Given the description of an element on the screen output the (x, y) to click on. 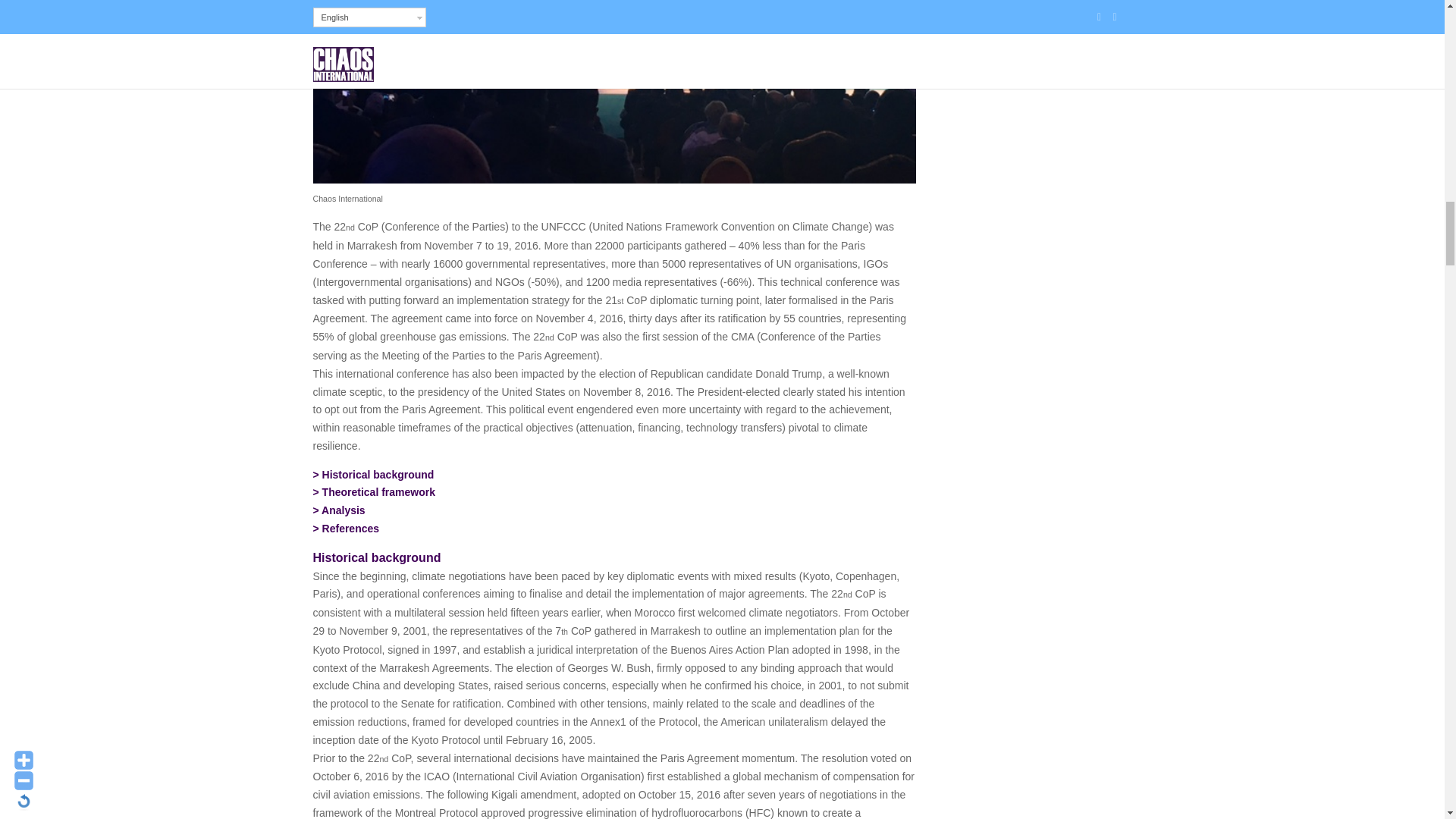
background (377, 474)
Analysis (343, 510)
References (350, 528)
framework (378, 491)
